Given the description of an element on the screen output the (x, y) to click on. 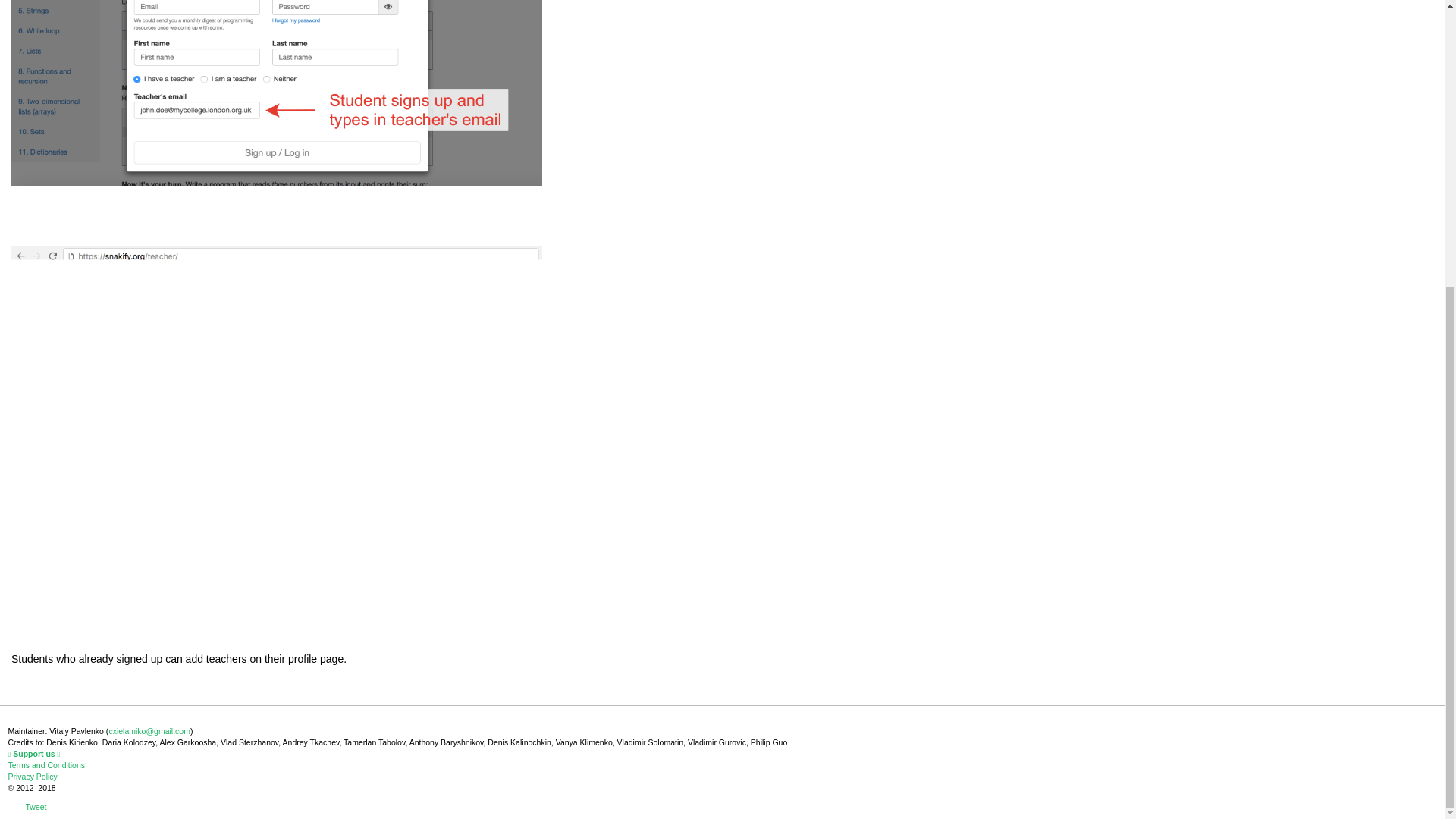
Tweet (35, 806)
Terms and Conditions (45, 764)
Privacy Policy (31, 776)
